Given the description of an element on the screen output the (x, y) to click on. 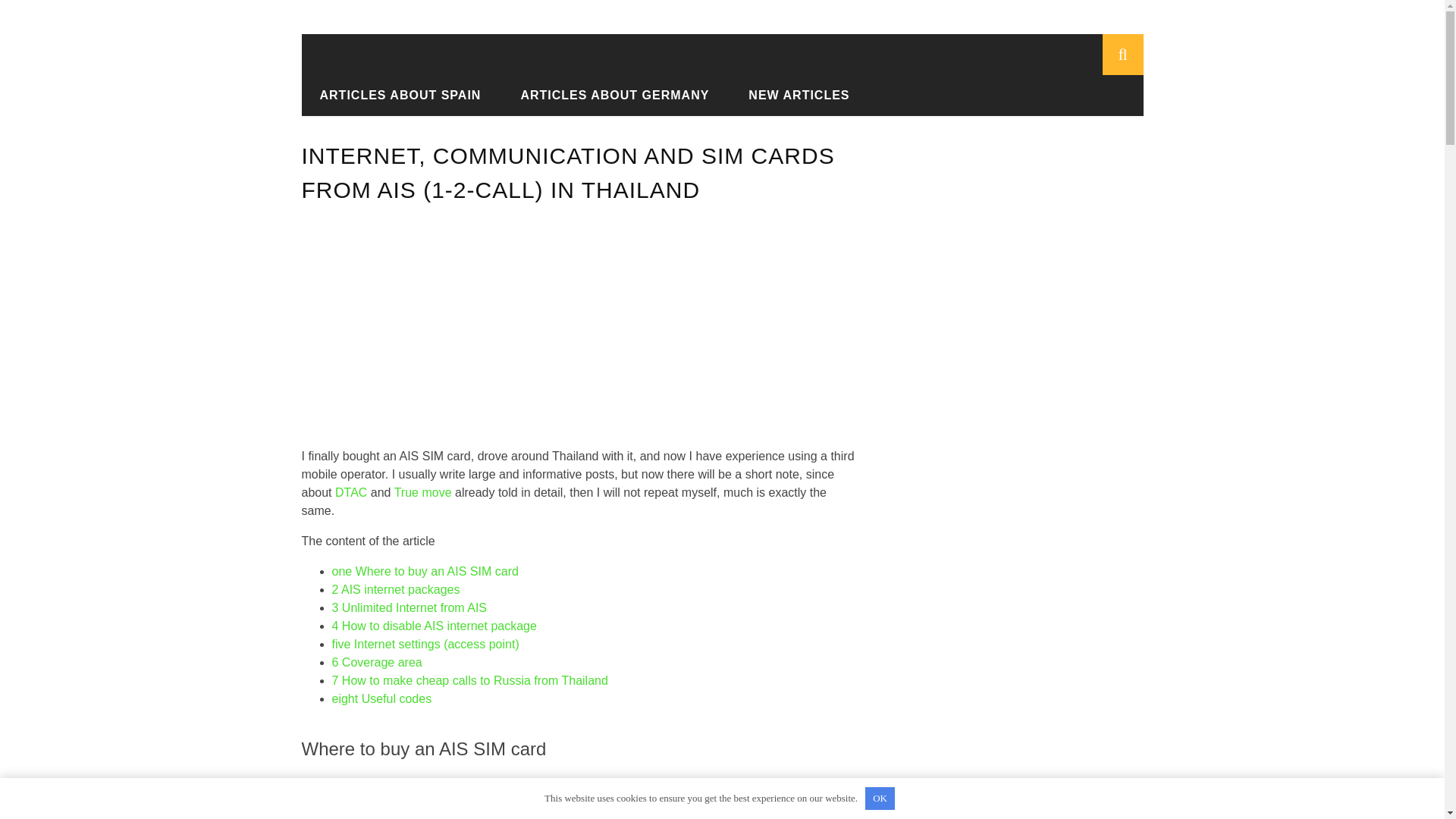
Home (343, 95)
NEW ARTICLES (798, 94)
New articles (418, 95)
True move (422, 492)
one Where to buy an AIS SIM card (424, 571)
ARTICLES ABOUT SPAIN (400, 94)
ARTICLES ABOUT GERMANY (614, 94)
DTAC (350, 492)
